Given the description of an element on the screen output the (x, y) to click on. 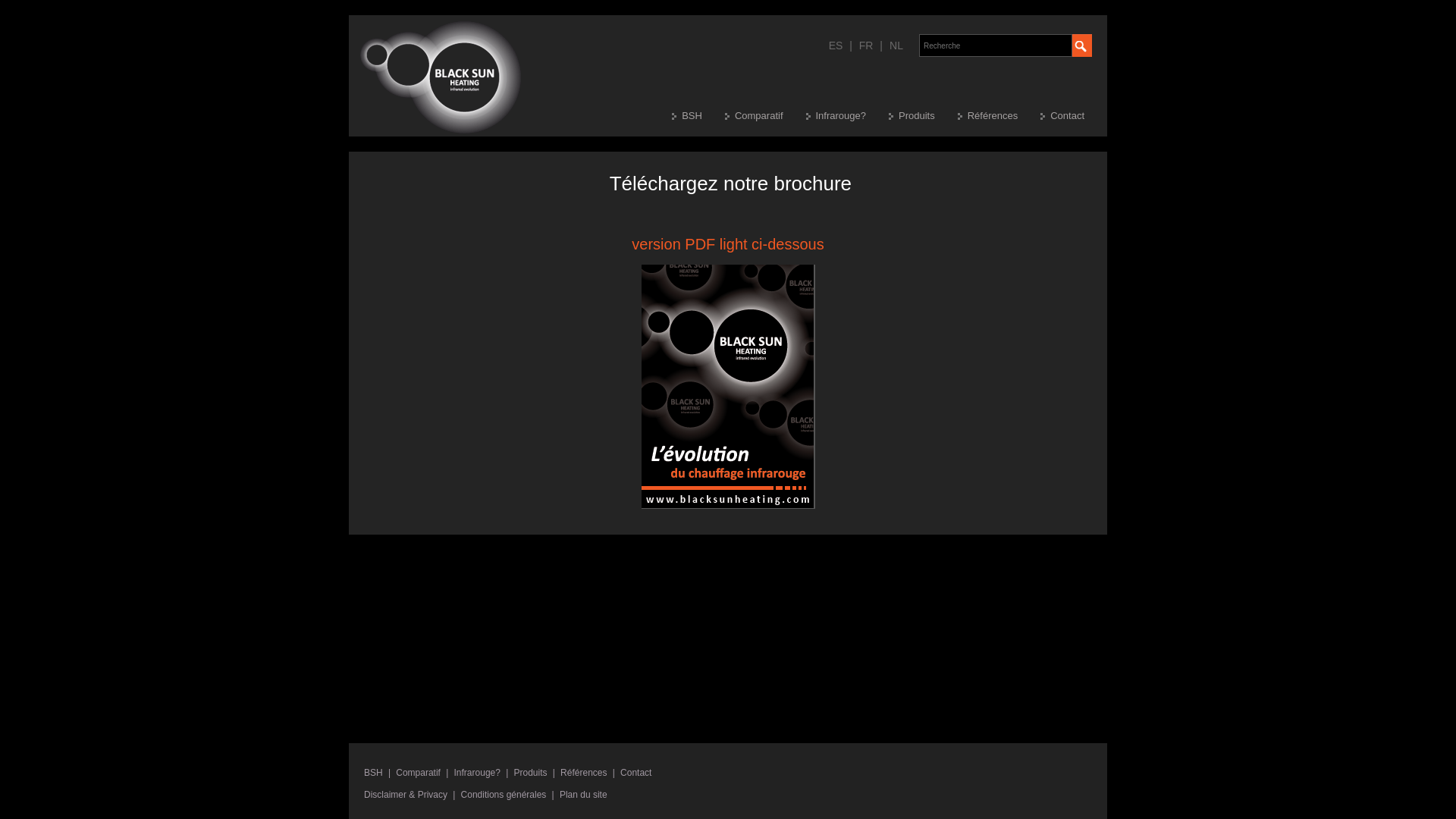
Contact Element type: text (1073, 115)
ES Element type: text (835, 45)
Produits Element type: text (922, 115)
Infrarouge? Element type: text (477, 772)
BSH Element type: text (697, 115)
Comparatif Element type: text (417, 772)
NL Element type: text (895, 45)
Infrarouge? Element type: text (846, 115)
Plan du site Element type: text (583, 794)
Disclaimer & Privacy Element type: text (405, 794)
Contact Element type: text (635, 772)
FR Element type: text (865, 45)
Comparatif Element type: text (765, 115)
Produits Element type: text (530, 772)
BSH Element type: text (373, 772)
